Given the description of an element on the screen output the (x, y) to click on. 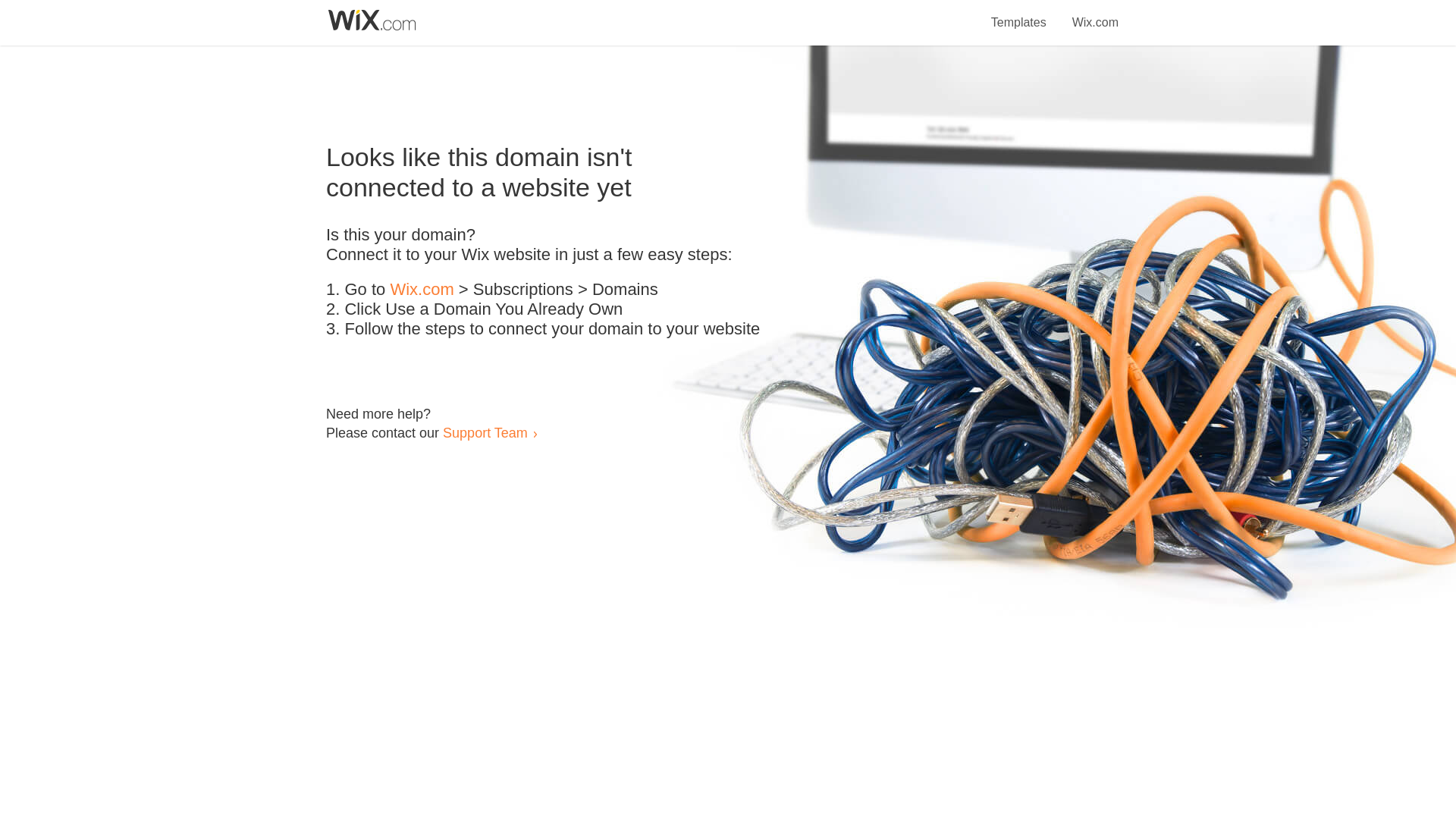
Support Team (484, 432)
Wix.com (1095, 14)
Wix.com (421, 289)
Templates (1018, 14)
